Given the description of an element on the screen output the (x, y) to click on. 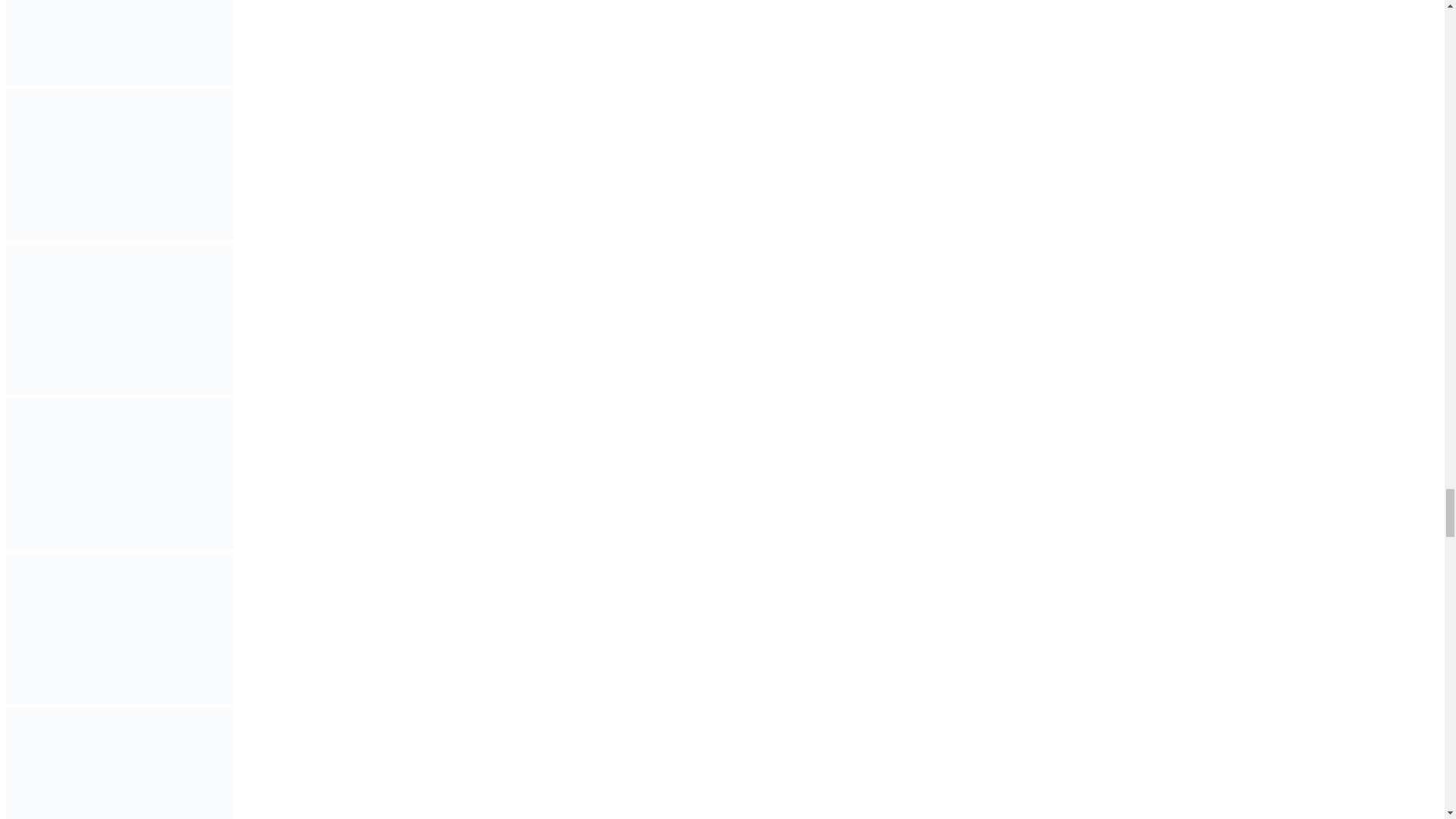
Seychelles inner islands mahe constance ephelia resort2 (118, 318)
Seychelles inner islands mahe constance ephelia resort4 (118, 628)
Seychelles inner islands mahe constance ephelia resort24 (118, 164)
Seychelles inner islands mahe constance ephelia resort3 (118, 473)
Seychelles inner islands mahe constance ephelia resort23 (118, 42)
